Given the description of an element on the screen output the (x, y) to click on. 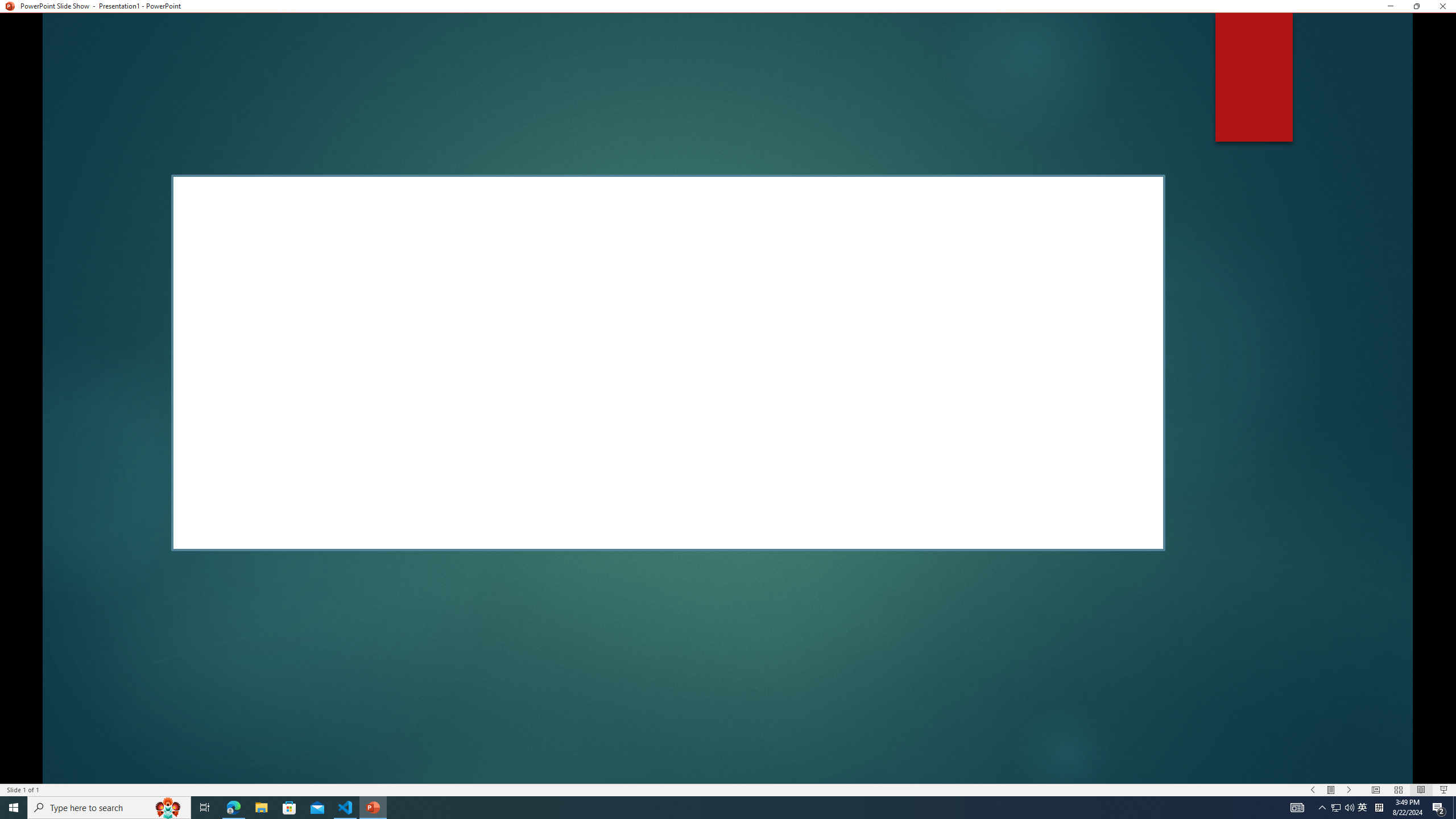
Menu On (1331, 790)
Slide Show Next On (1349, 790)
Slide Show Previous On (1313, 790)
